Given the description of an element on the screen output the (x, y) to click on. 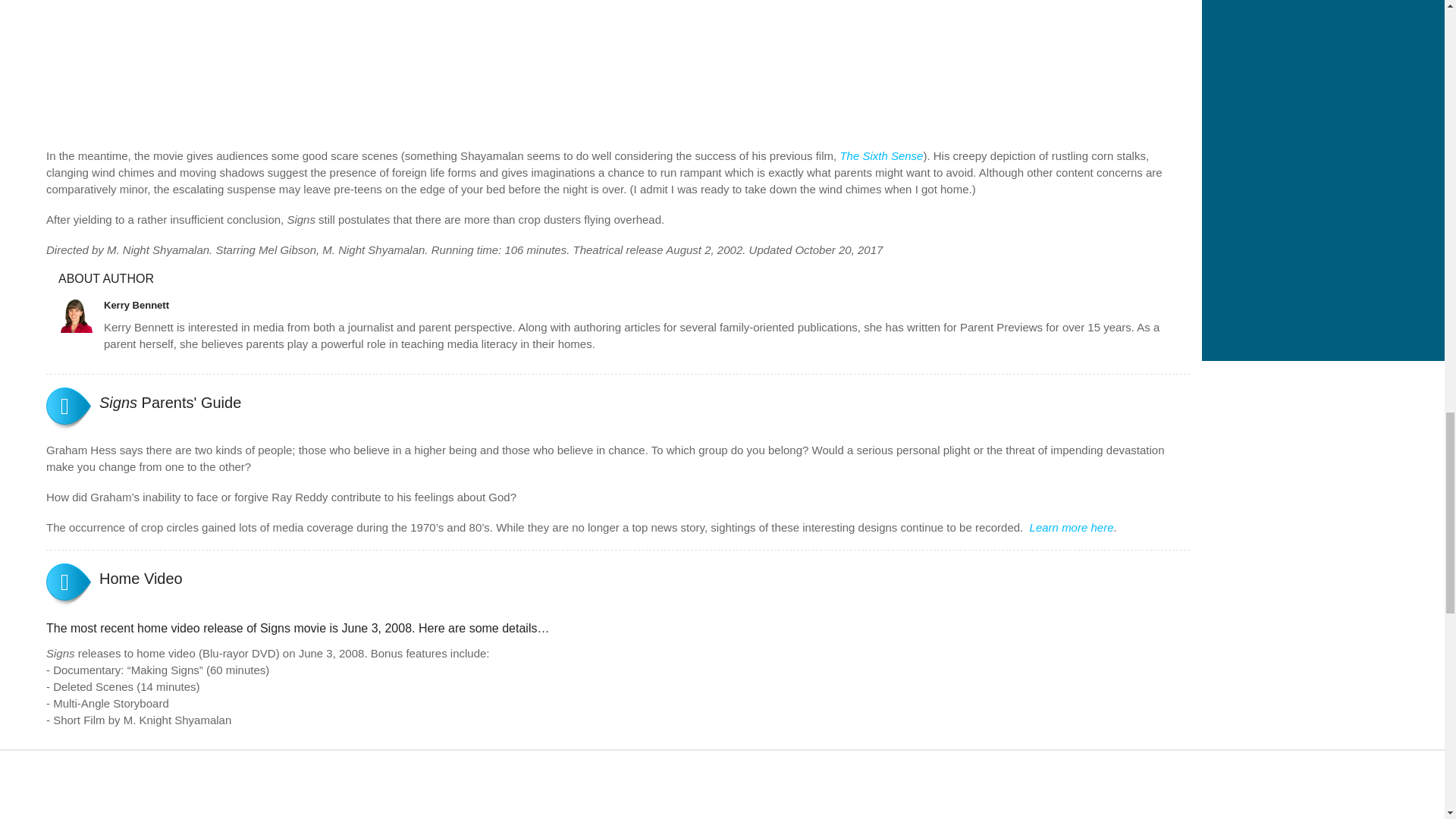
The Sixth Sense (881, 155)
